Given the description of an element on the screen output the (x, y) to click on. 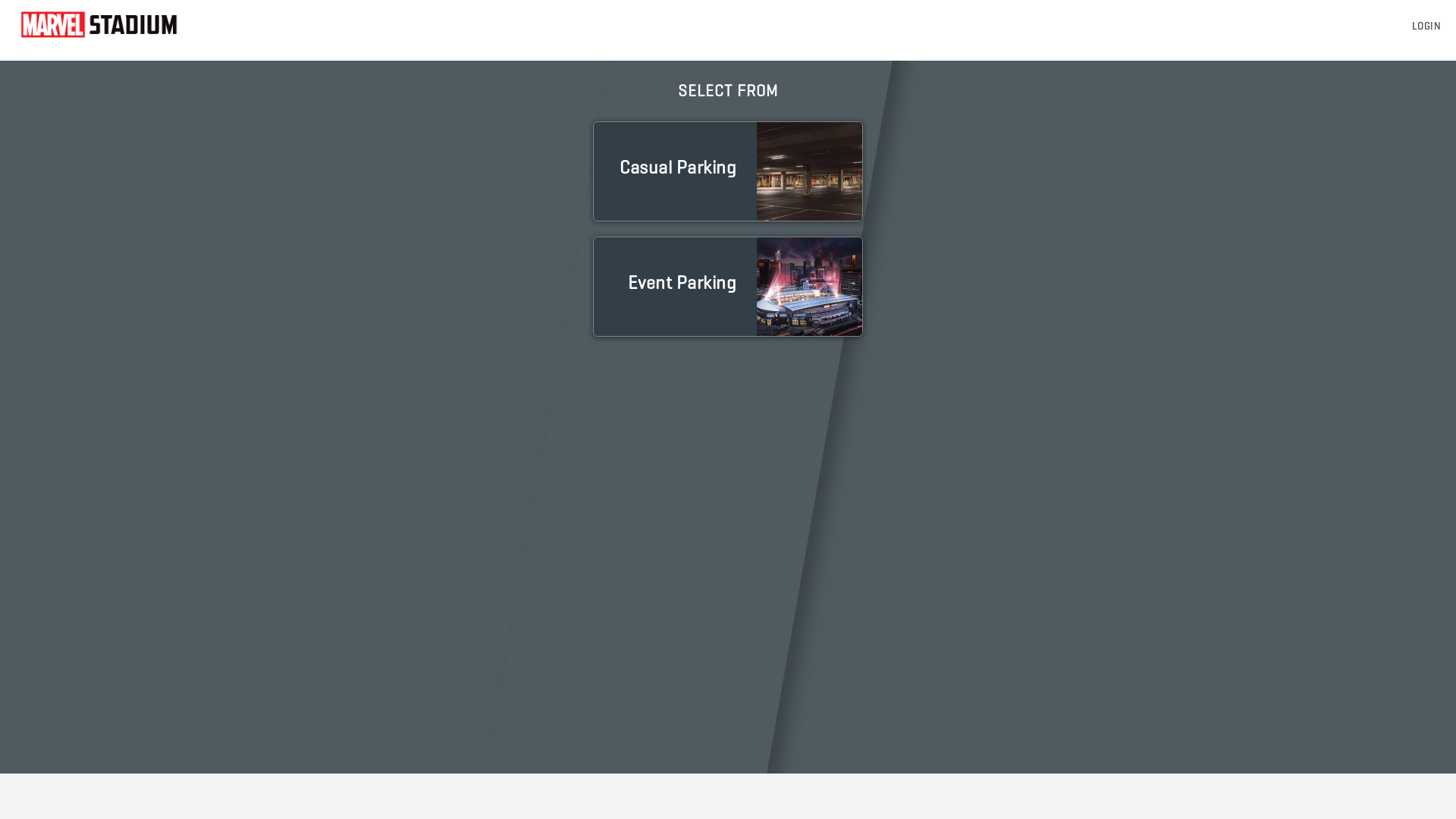
LOGIN Element type: text (1426, 26)
